Given the description of an element on the screen output the (x, y) to click on. 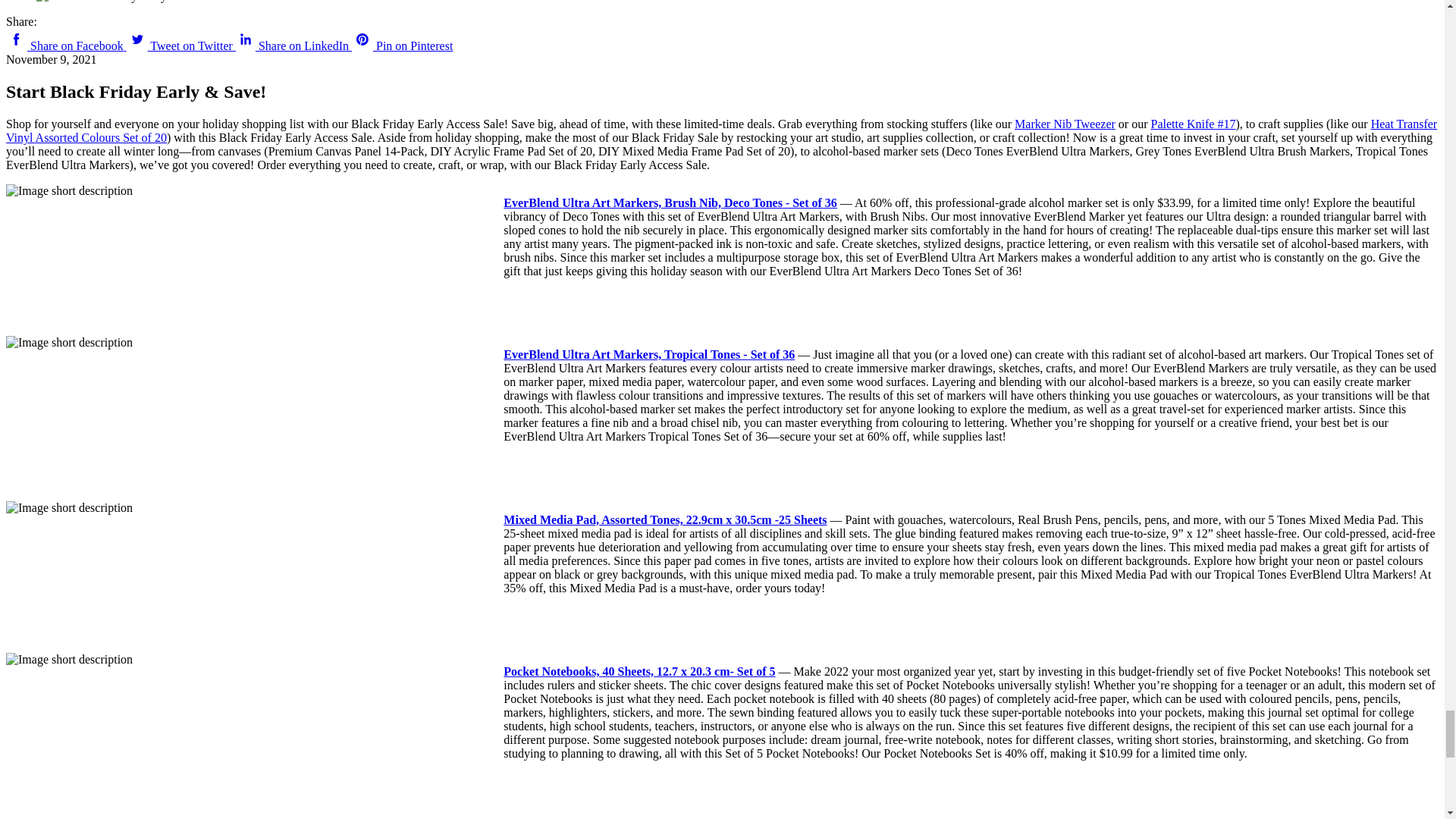
Mixed Media Pad, Assorted Tones, 22.9cm x 30.5cm -25 Sheets (665, 519)
Marker Nib Tweezer (1064, 123)
Pocket Notebooks, 40 Sheets, 12.7 x 20.3 cm- Set of 5 (638, 671)
EverBlend Ultra Art Markers, Tropical Tones - Set of 36 (648, 354)
